Given the description of an element on the screen output the (x, y) to click on. 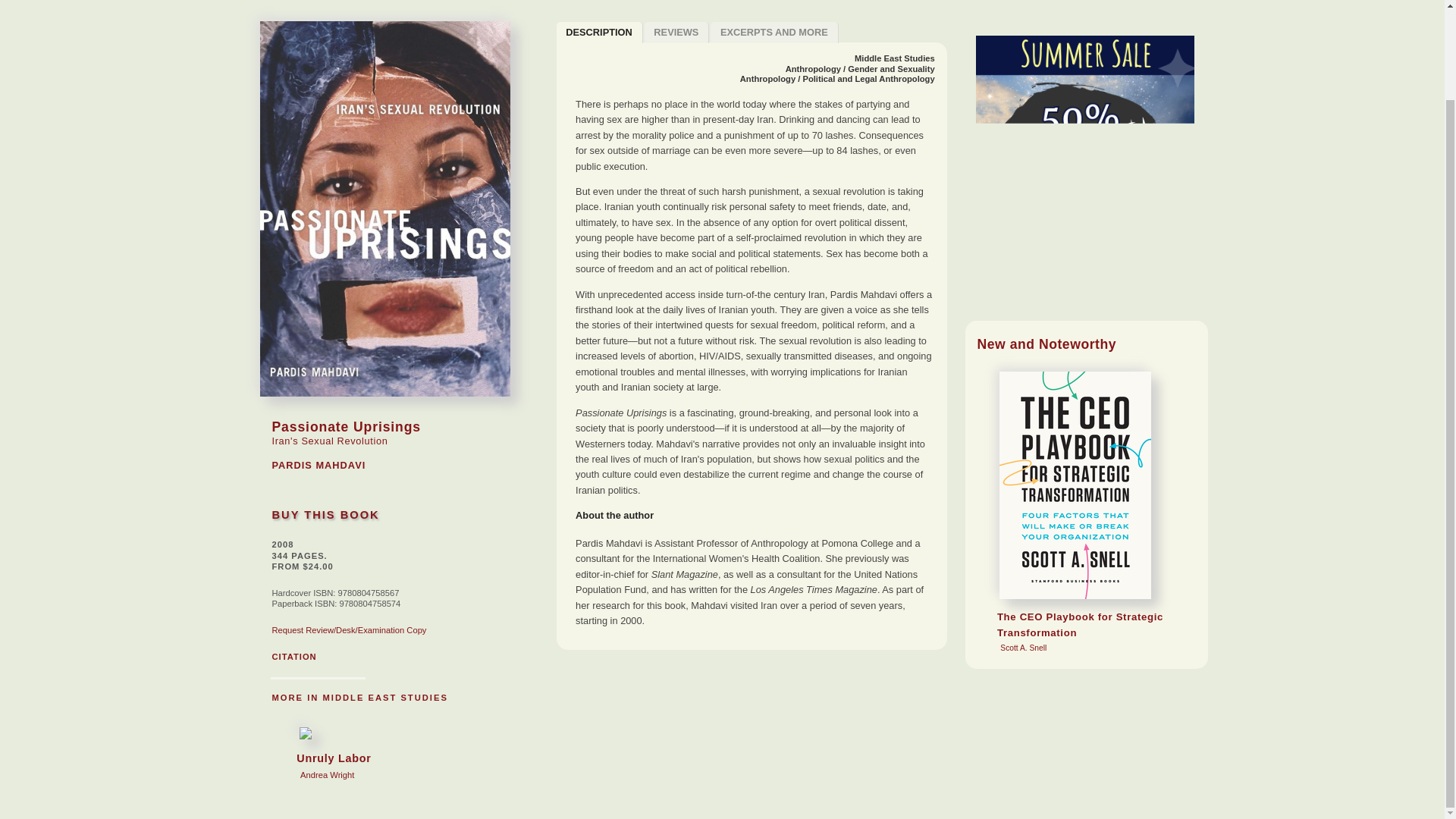
BUY THIS BOOK (352, 753)
MORE IN MIDDLE EAST STUDIES (324, 514)
Middle East Studies (358, 696)
REVIEWS (894, 58)
CITATION (774, 32)
DESCRIPTION (677, 32)
